Given the description of an element on the screen output the (x, y) to click on. 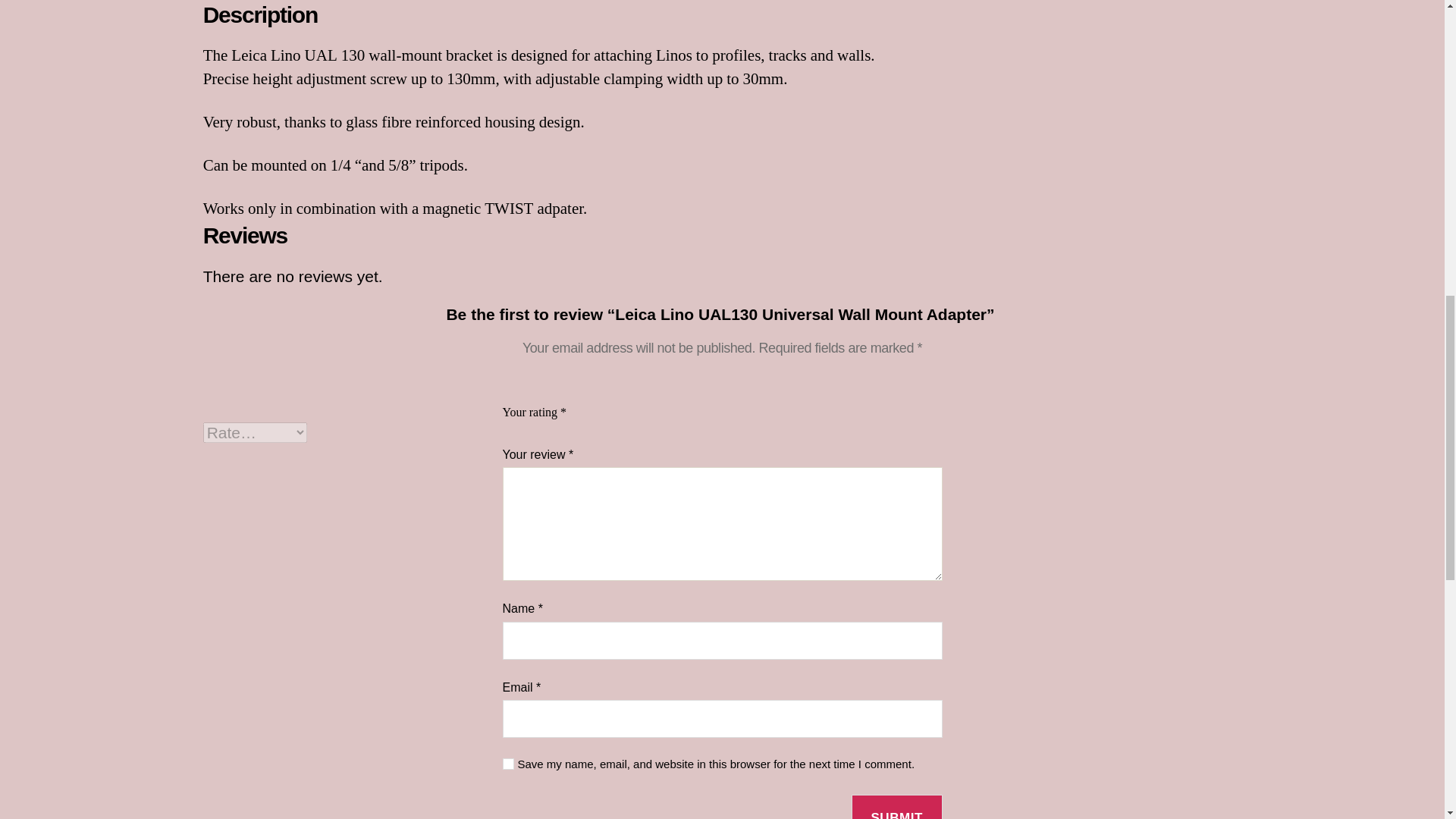
Submit (896, 806)
Submit (896, 806)
yes (507, 763)
